Given the description of an element on the screen output the (x, y) to click on. 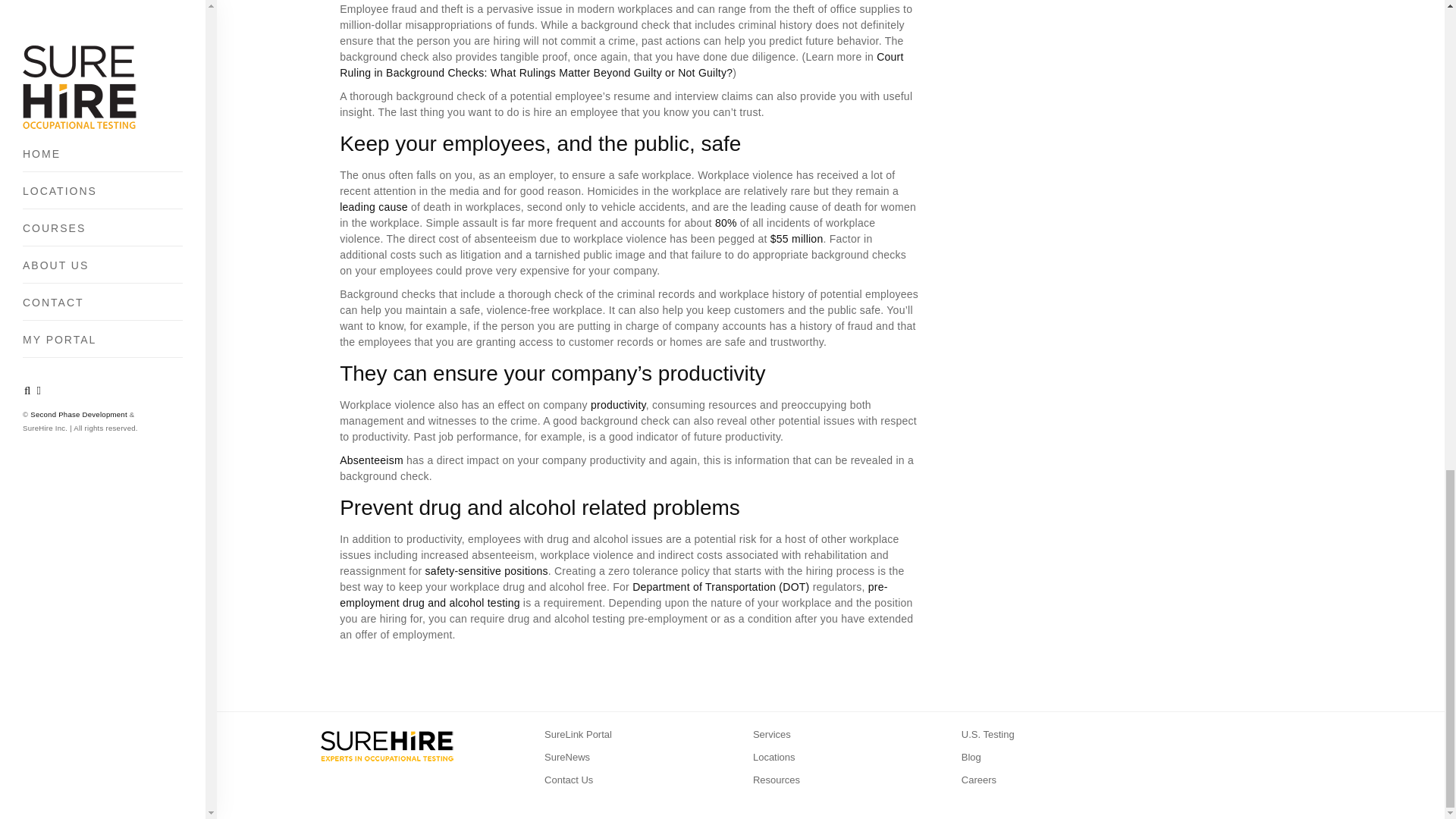
pre-employment drug and alcohol testing (612, 594)
safety-sensitive positions (486, 571)
productivity (618, 404)
Absenteeism (371, 460)
leading cause (373, 206)
